Given the description of an element on the screen output the (x, y) to click on. 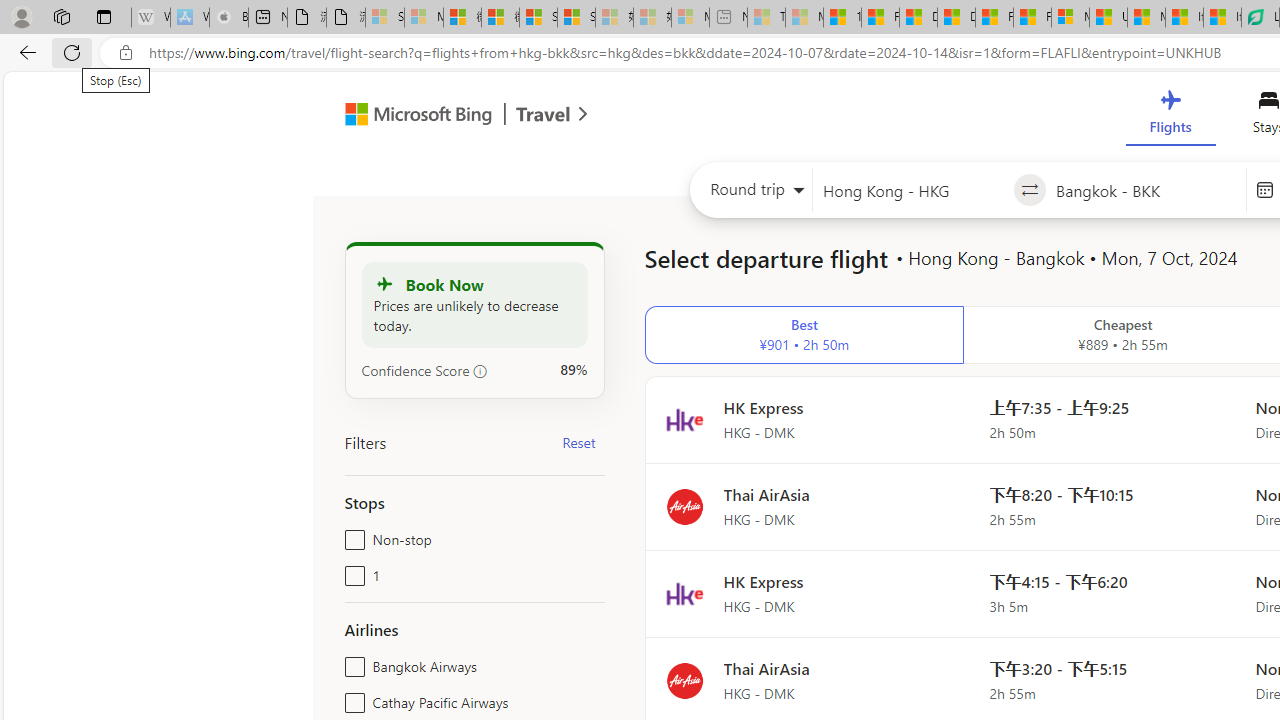
Leaving from? (912, 190)
Microsoft Bing Travel (445, 116)
Marine life - MSN - Sleeping (804, 17)
Swap source and destination (1028, 189)
1 (351, 571)
Cathay Pacific Airways (351, 698)
Wikipedia - Sleeping (150, 17)
Flights (1170, 116)
Food and Drink - MSN (879, 17)
Select trip type (750, 193)
